Given the description of an element on the screen output the (x, y) to click on. 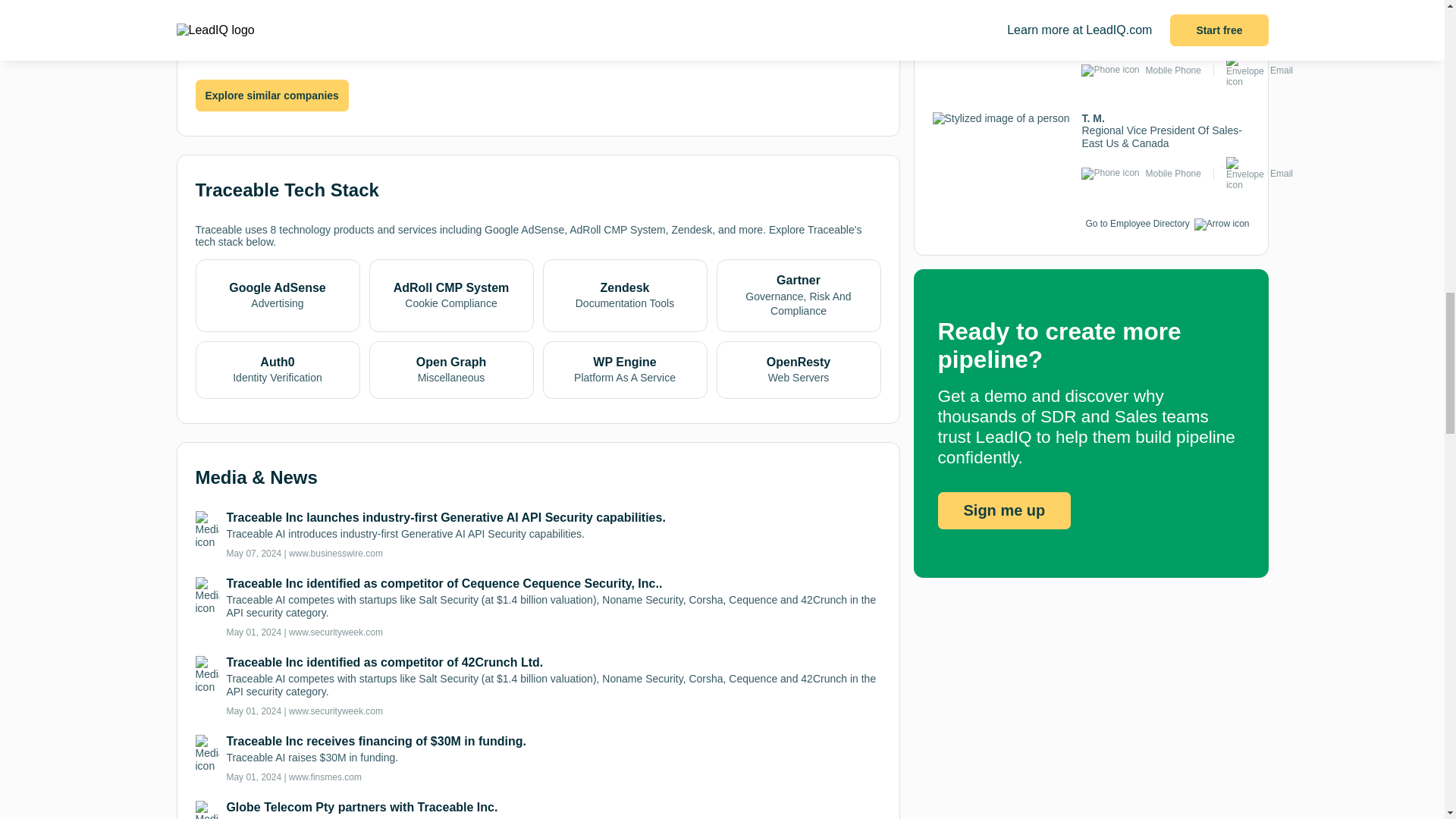
Explore similar companies (272, 95)
Explore similar companies (272, 94)
